Given the description of an element on the screen output the (x, y) to click on. 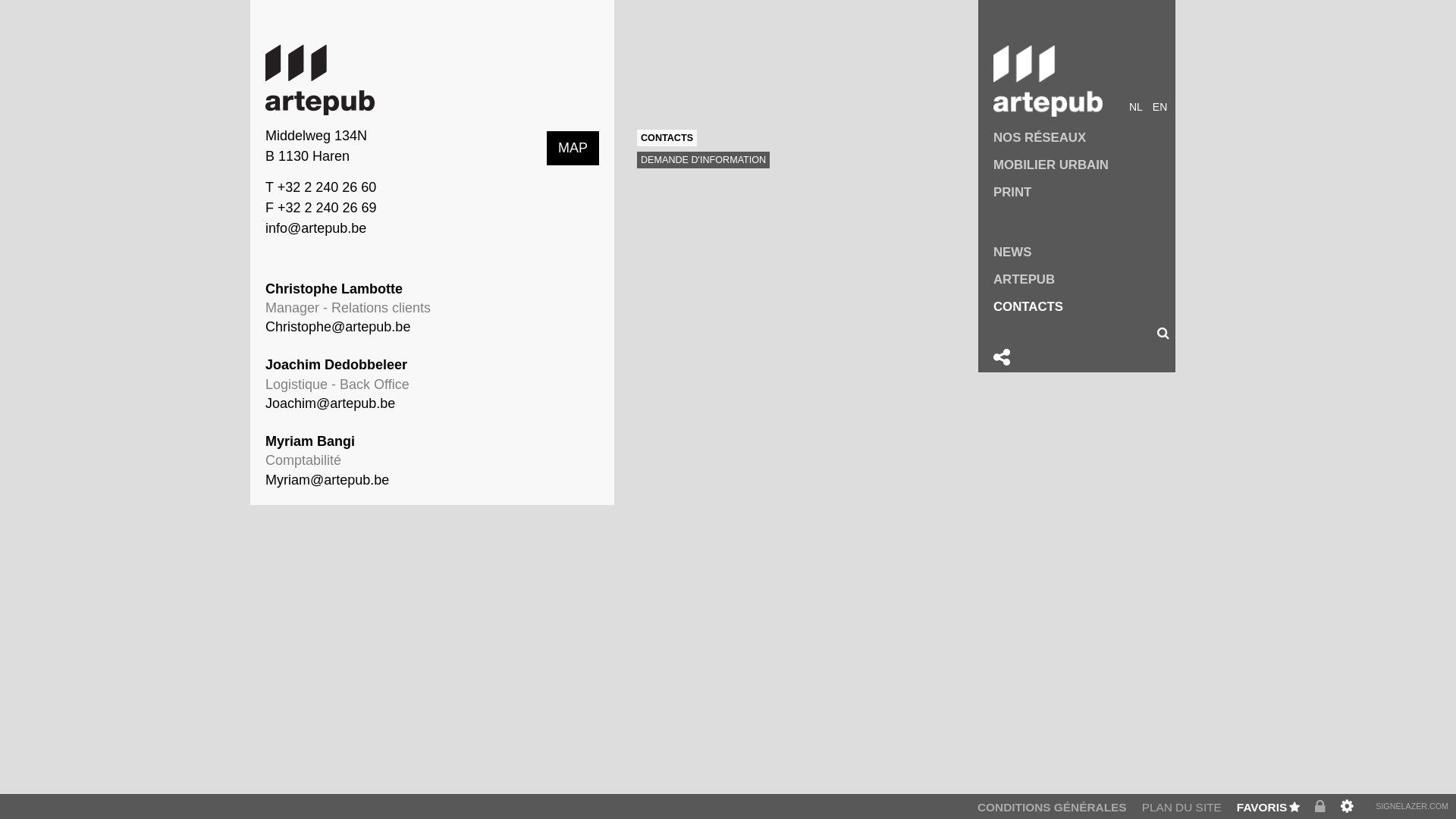
PLAN DU SITE Element type: text (1181, 806)
NEWS Element type: text (1084, 251)
ARTEPUB Element type: text (1084, 279)
Joachim@artepub.be Element type: text (330, 403)
MOBILIER URBAIN Element type: text (1084, 164)
EN Element type: text (1159, 106)
CONTACTS Element type: text (1084, 306)
SIGNELAZER.COM Element type: text (1411, 805)
NL Element type: text (1135, 106)
CONTACTS Element type: text (666, 137)
FAVORIS Element type: text (1267, 806)
DEMANDE D'INFORMATION Element type: text (703, 159)
PRINT Element type: text (1084, 191)
Myriam@artepub.be Element type: text (327, 479)
Christophe@artepub.be Element type: text (337, 326)
MAP Element type: text (572, 147)
info@artepub.be Element type: text (315, 227)
